Given the description of an element on the screen output the (x, y) to click on. 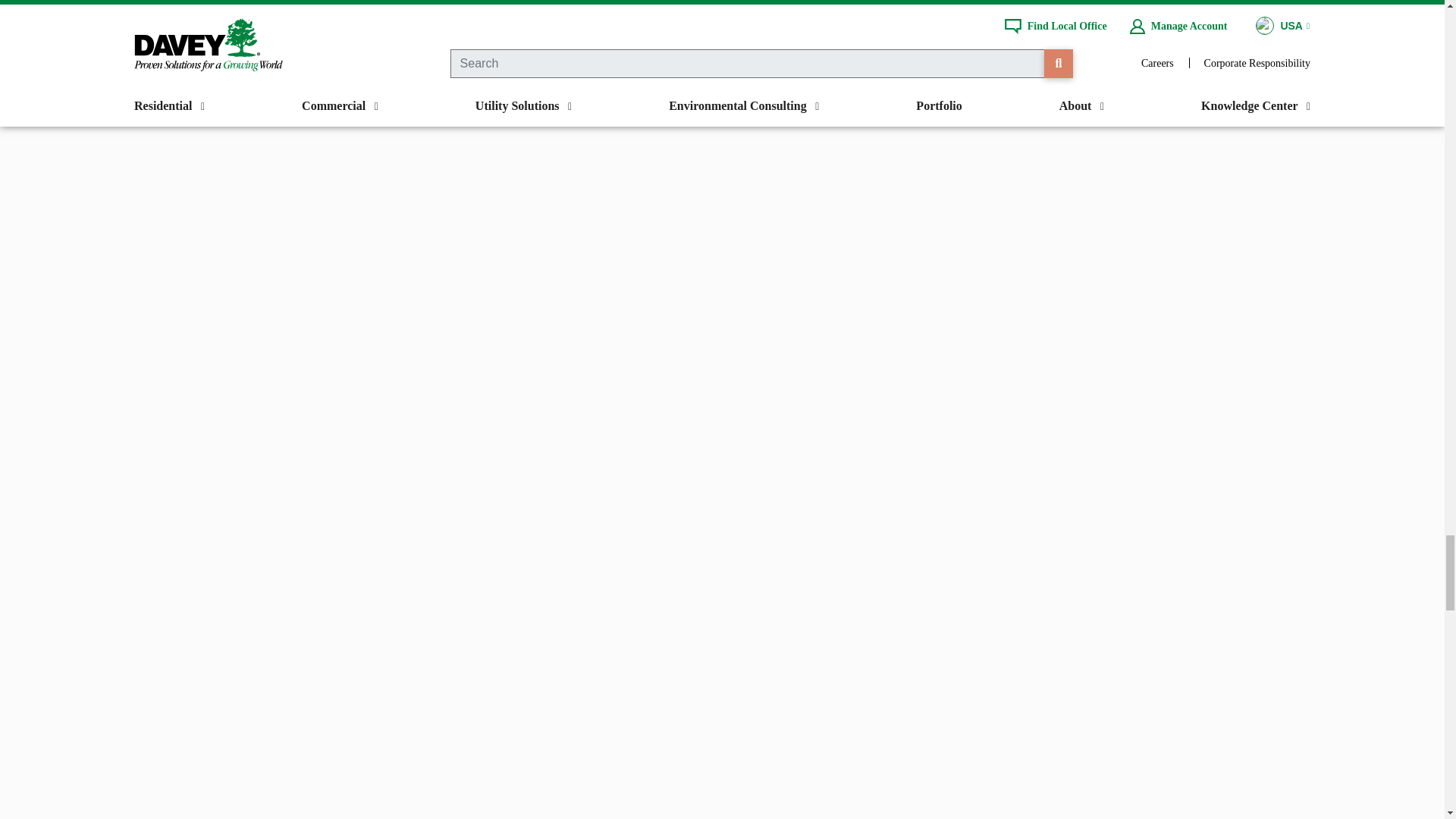
Facebook (566, 6)
Pinterest (690, 6)
YouTube (815, 6)
Instagram (752, 6)
LinkedIn (877, 6)
Twitter (628, 6)
